Given the description of an element on the screen output the (x, y) to click on. 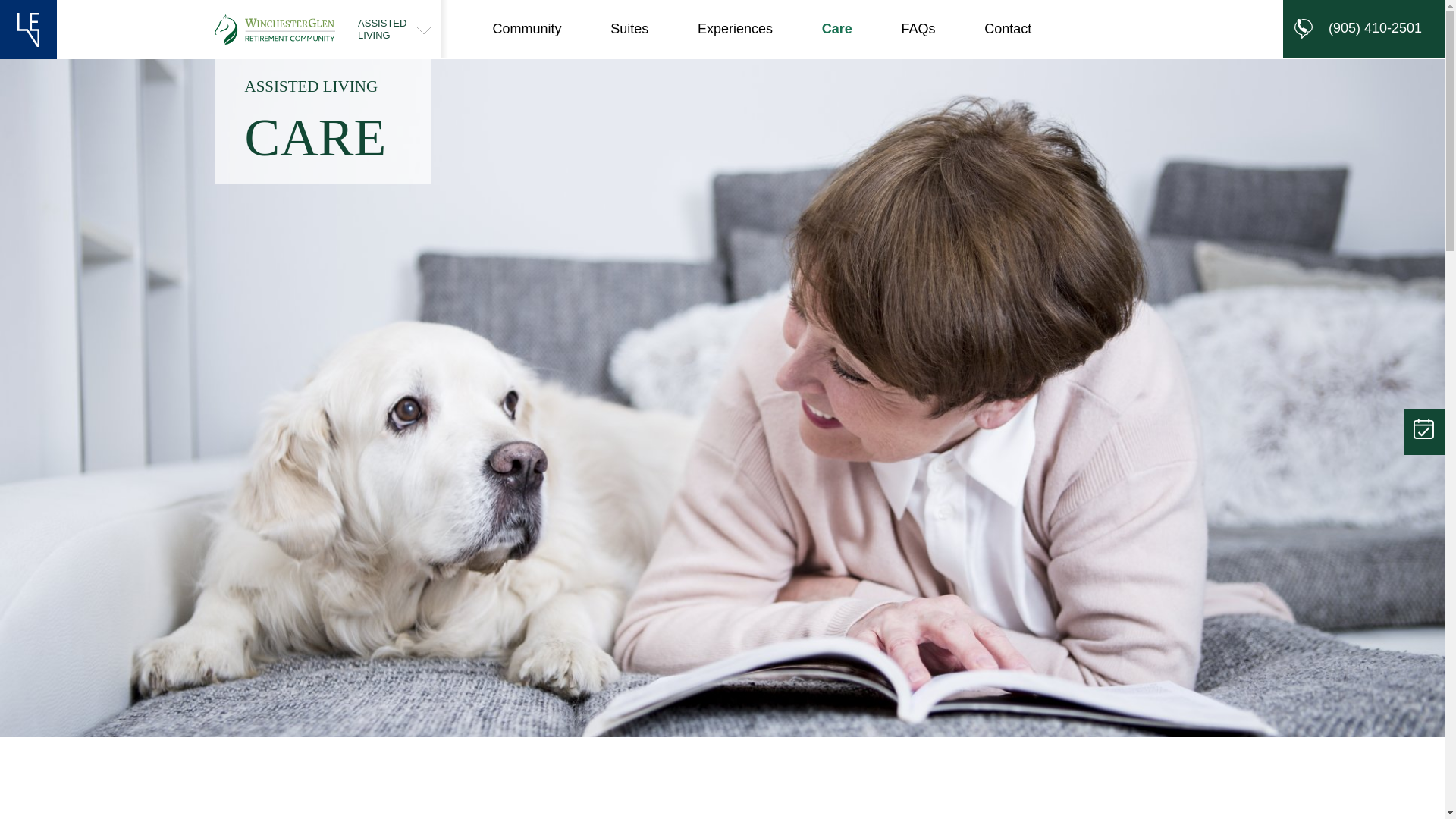
Care (837, 29)
Experiences (734, 29)
Community (393, 29)
Contact (525, 29)
Suites (1007, 29)
FAQs (629, 29)
